Given the description of an element on the screen output the (x, y) to click on. 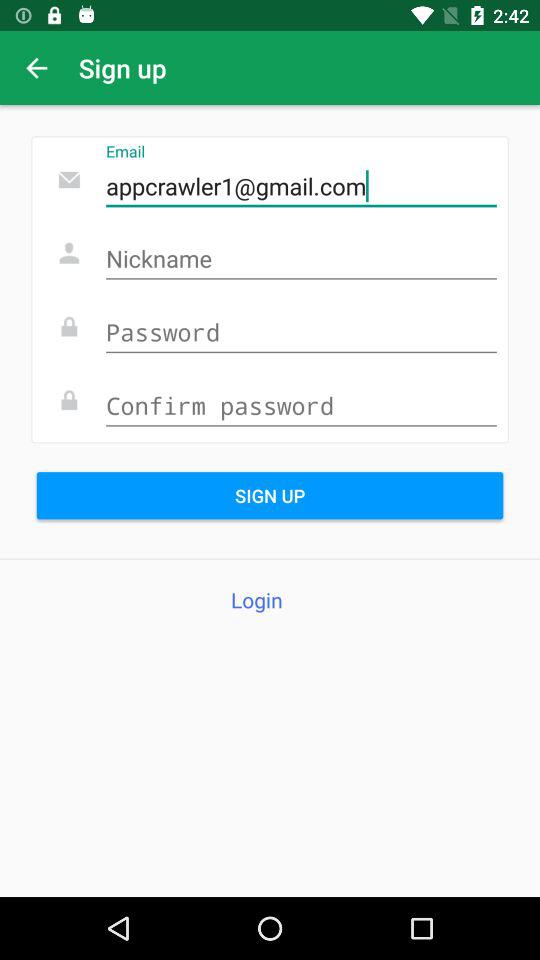
enter your nickname (301, 259)
